Given the description of an element on the screen output the (x, y) to click on. 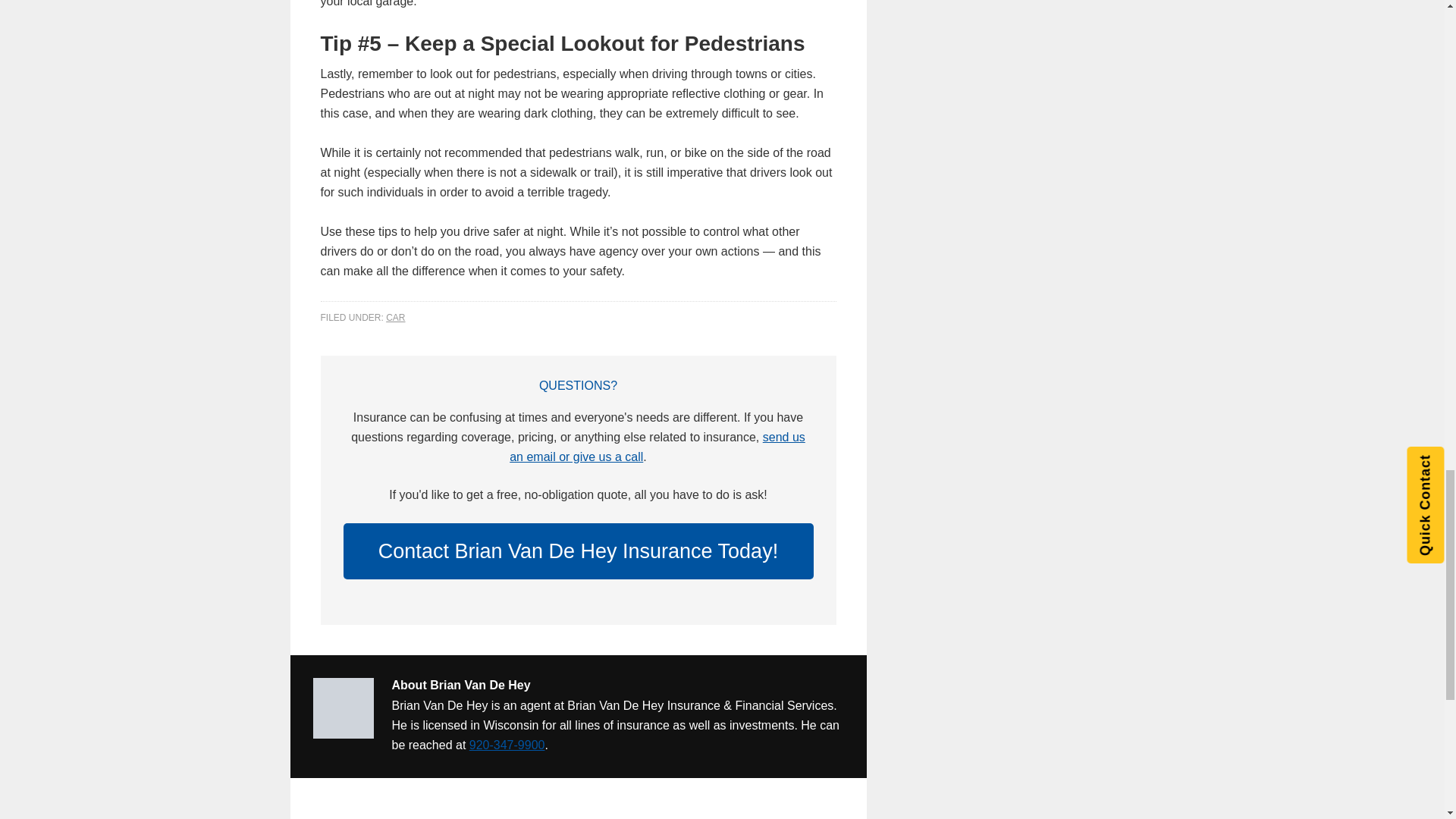
send us an email or give us a call (657, 446)
Contact Brian Van De Hey Insurance Today! (577, 551)
CAR (394, 317)
920-347-9900 (506, 744)
